Given the description of an element on the screen output the (x, y) to click on. 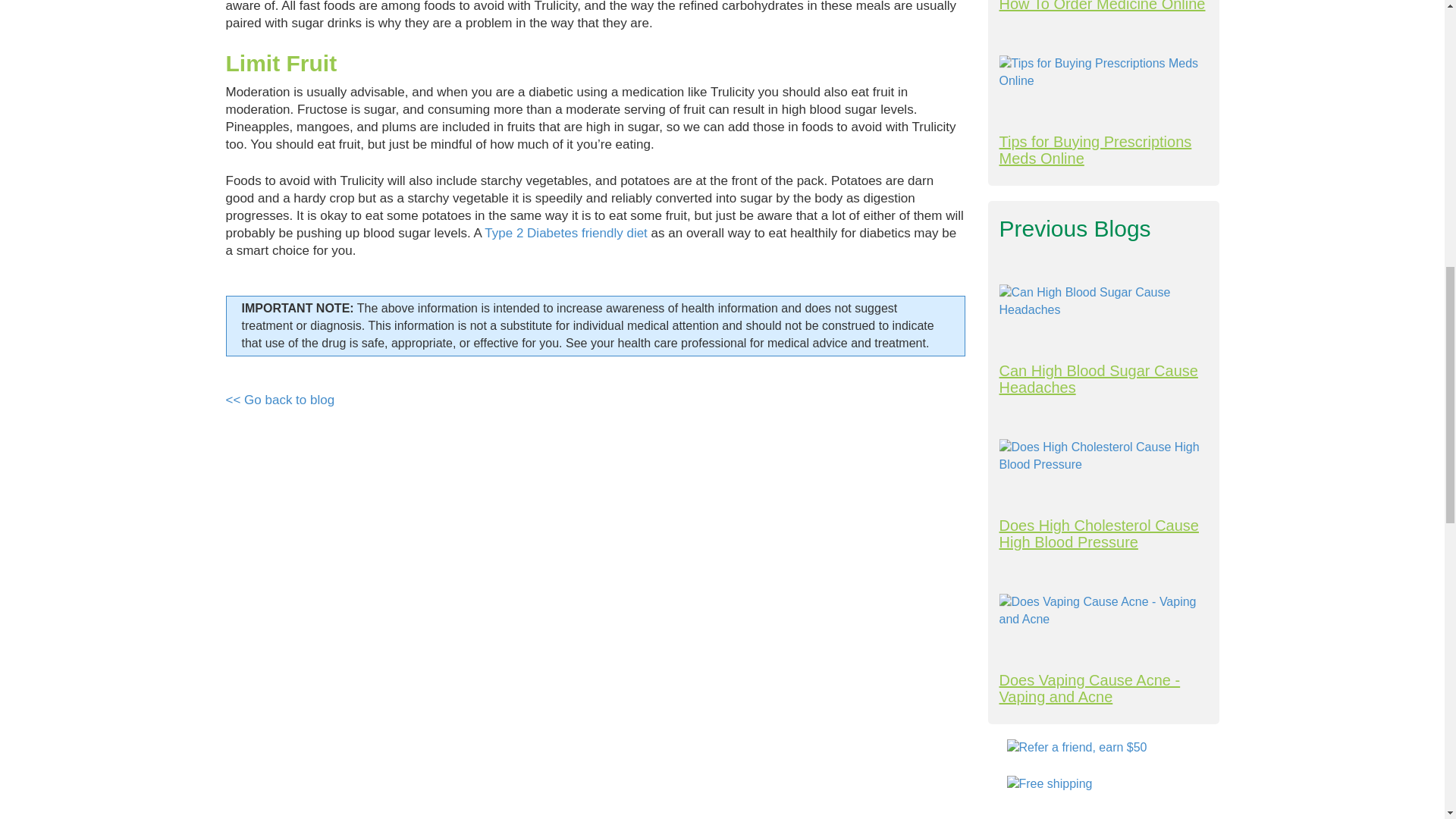
Does High Cholesterol Cause High Blood Pressure (1103, 456)
Does Vaping Cause Acne - Vaping and Acne (1103, 610)
Can High Blood Sugar Cause Headaches (1103, 378)
Does Vaping Cause Acne - Vaping and Acne (1103, 688)
How To Order Medicine Online (1103, 6)
Tips for Buying Prescriptions Meds Online (1103, 72)
Can High Blood Sugar Cause Headaches (1103, 301)
Does High Cholesterol Cause High Blood Pressure (1103, 533)
Can High Blood Sugar Cause Headaches (1103, 301)
Tips for Buying Prescriptions Meds Online (1103, 72)
Does Vaping Cause Acne - Vaping and Acne (1103, 610)
Tips for Buying Prescriptions Meds Online (1103, 150)
Does High Cholesterol Cause High Blood Pressure (1103, 456)
Type 2 Diabetes friendly diet (565, 233)
